Given the description of an element on the screen output the (x, y) to click on. 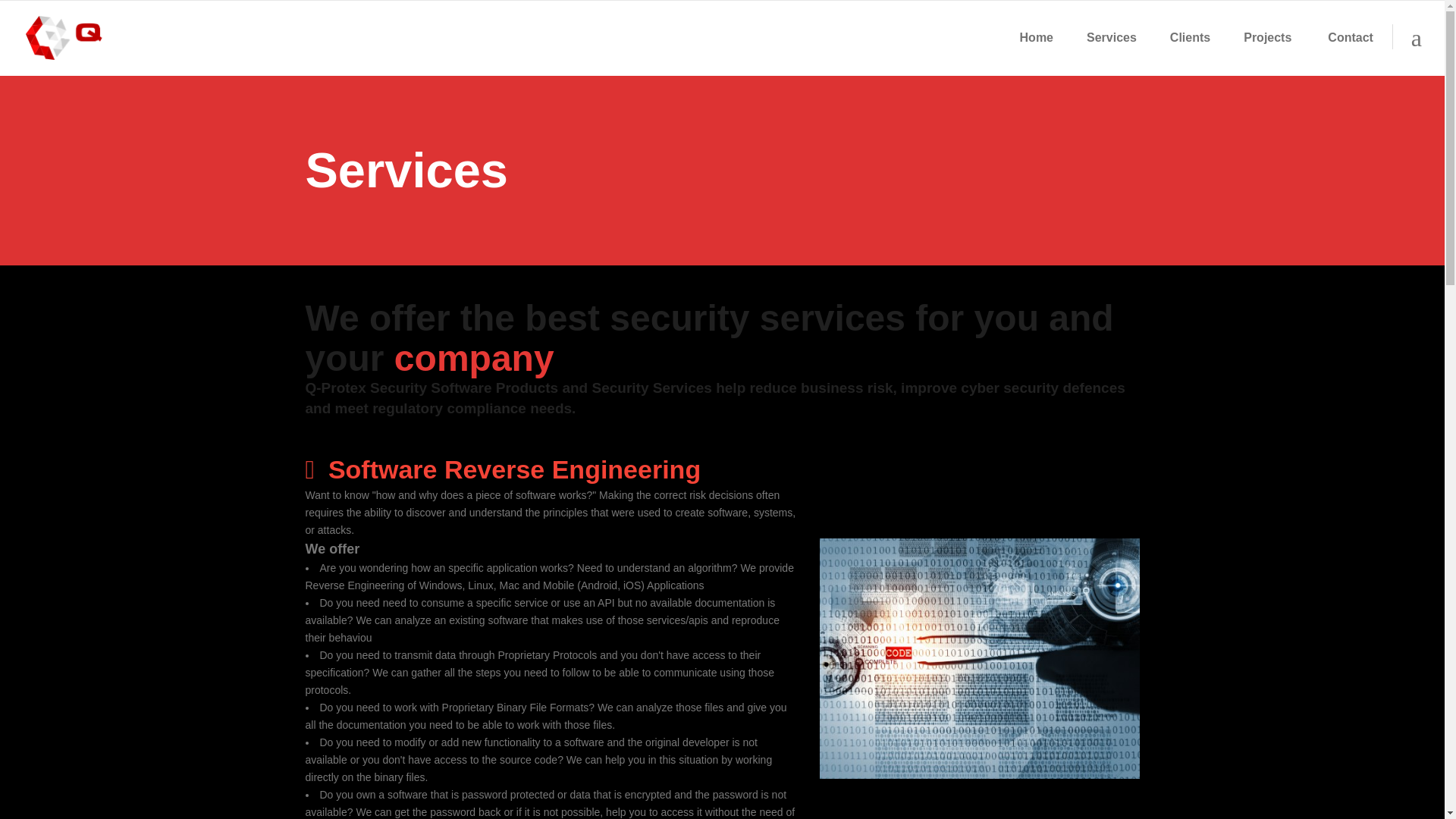
Contact (1351, 38)
Clients (1189, 38)
Projects (1267, 38)
Services (1111, 38)
